Given the description of an element on the screen output the (x, y) to click on. 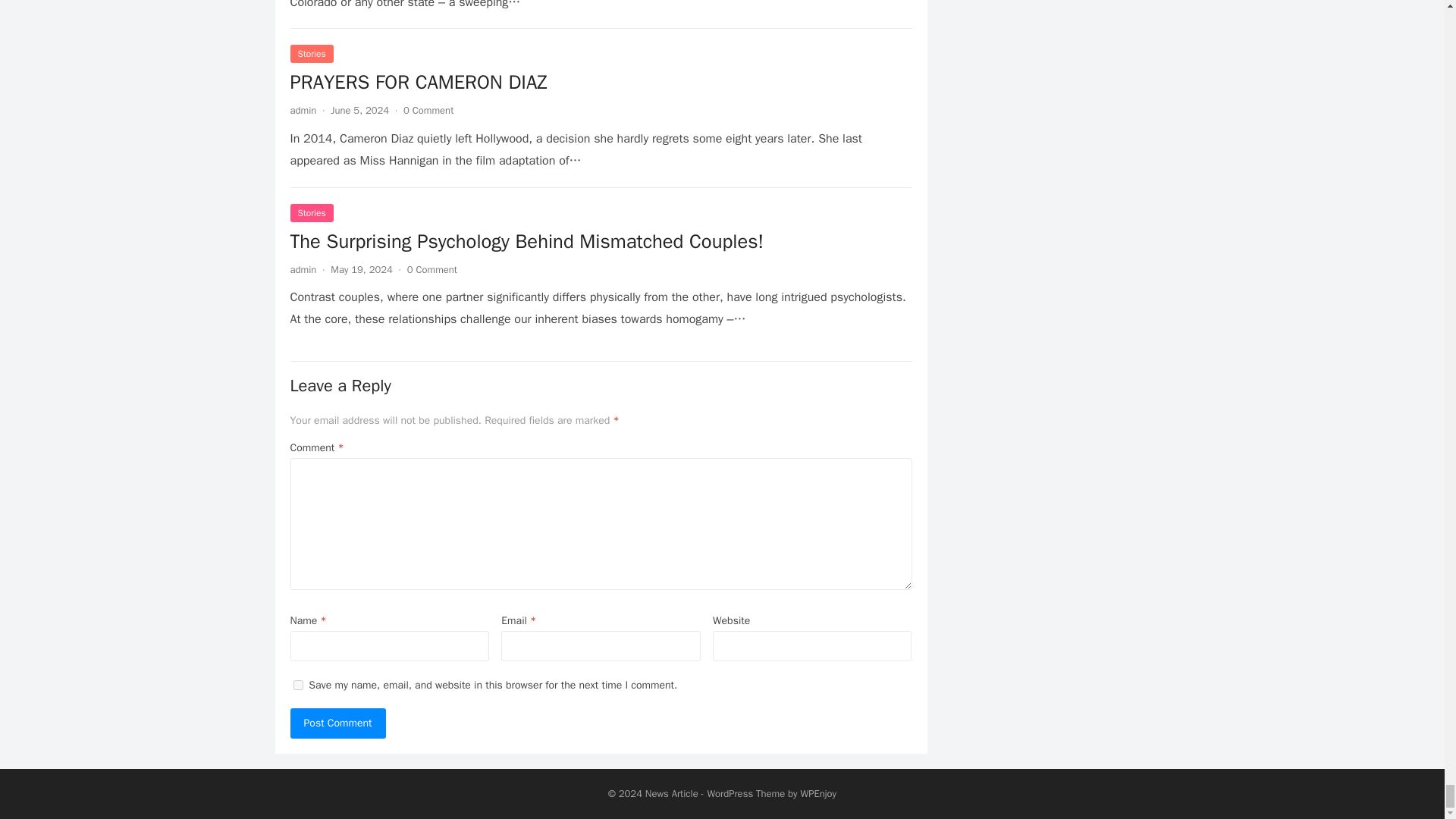
Post Comment (337, 723)
Posts by admin (302, 110)
yes (297, 685)
Posts by admin (302, 269)
